Given the description of an element on the screen output the (x, y) to click on. 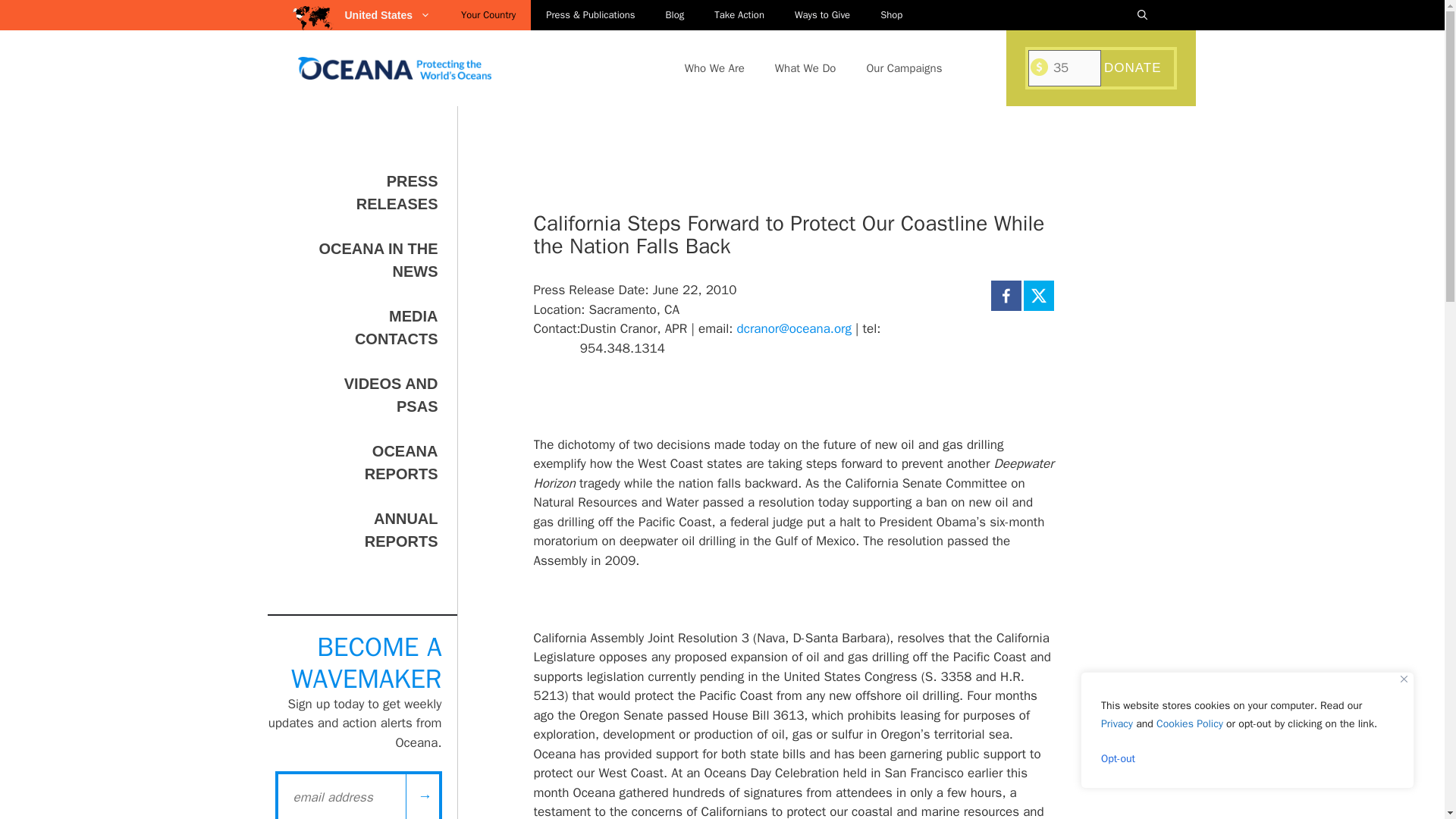
PRESS RELEASES (397, 192)
Your Country (488, 15)
Privacy (1116, 723)
Who We Are (714, 67)
Blog (675, 15)
DONATE (1133, 67)
MEDIA CONTACTS (396, 327)
Take Action (738, 15)
DONATE (1133, 67)
Cookies Policy (1189, 723)
OCEANA IN THE NEWS (378, 260)
Ways to Give (821, 15)
Opt-out (1246, 759)
Shop (890, 15)
What We Do (805, 67)
